Given the description of an element on the screen output the (x, y) to click on. 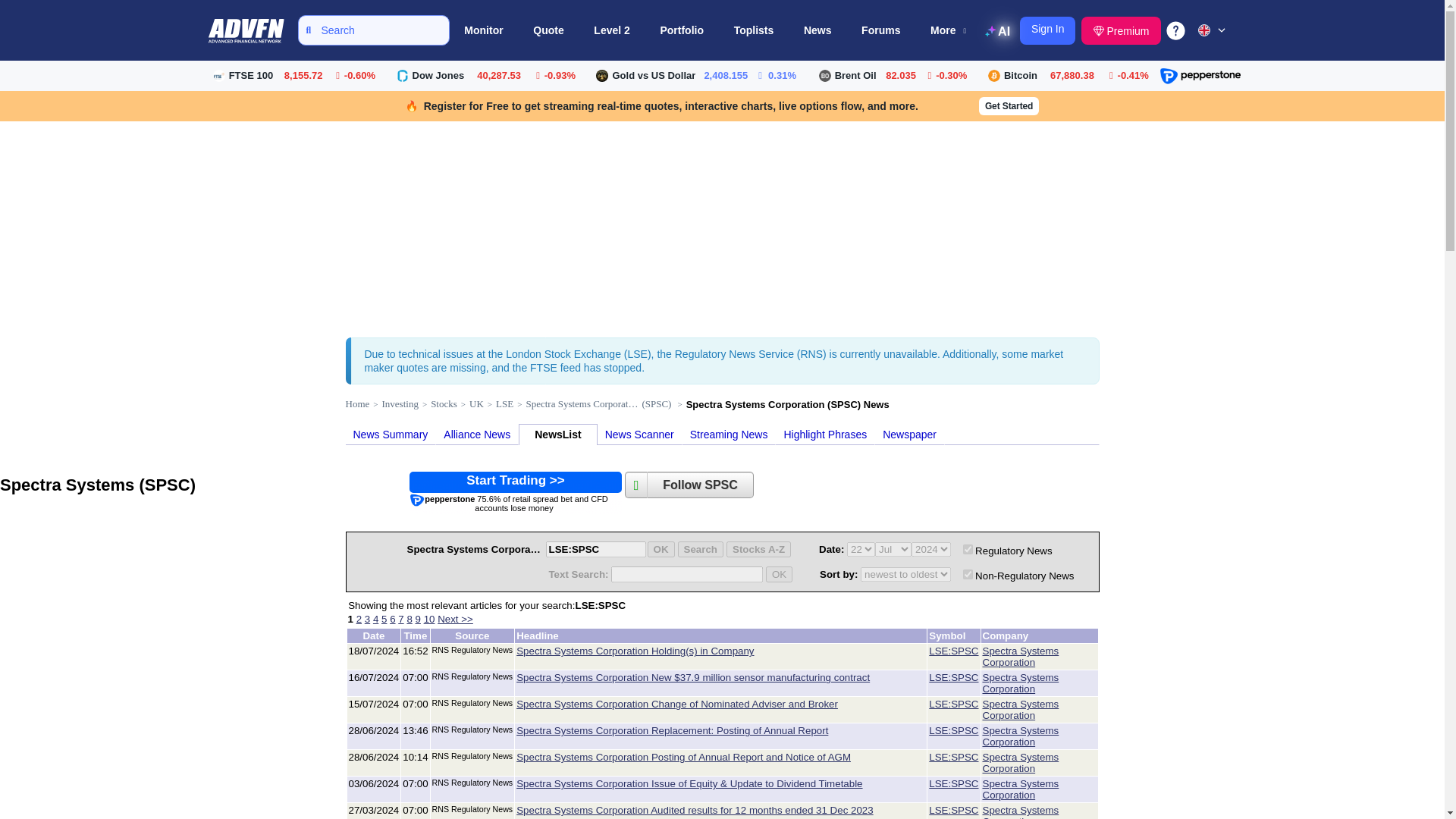
Follow Spectra Systems Corporation (635, 484)
Latest News (390, 434)
Search (700, 549)
Latest News (557, 434)
Portfolio (681, 29)
Quote (953, 650)
Get notified on the news that matter to you! (639, 434)
Follow Spectra Systems Corporation (700, 484)
Forums (880, 29)
Quote (548, 29)
Monitor (483, 29)
3rd party ad content (515, 492)
Streaming News (729, 434)
Allicance News (477, 434)
Newspaper (909, 434)
